Given the description of an element on the screen output the (x, y) to click on. 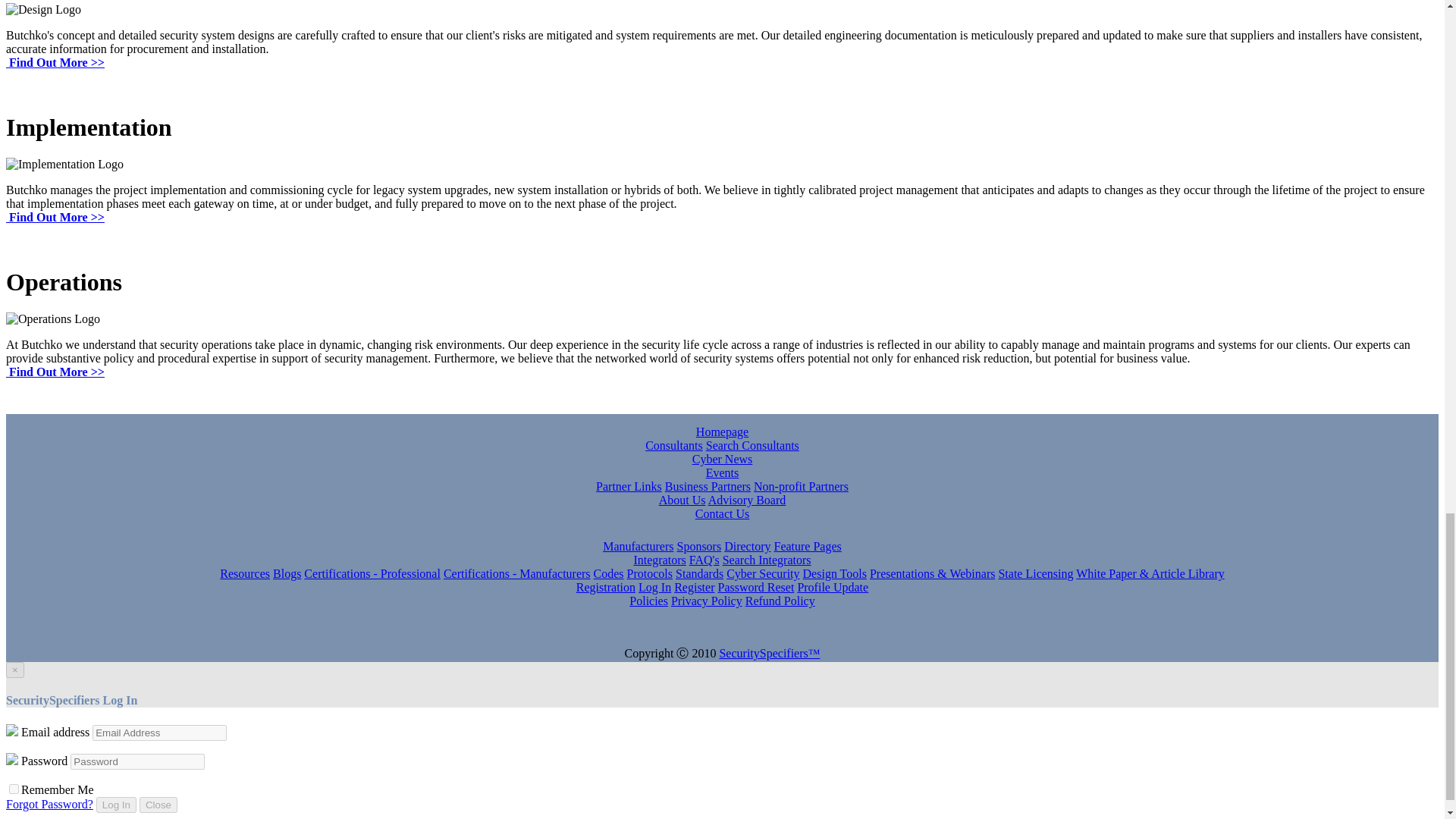
on (13, 787)
